Given the description of an element on the screen output the (x, y) to click on. 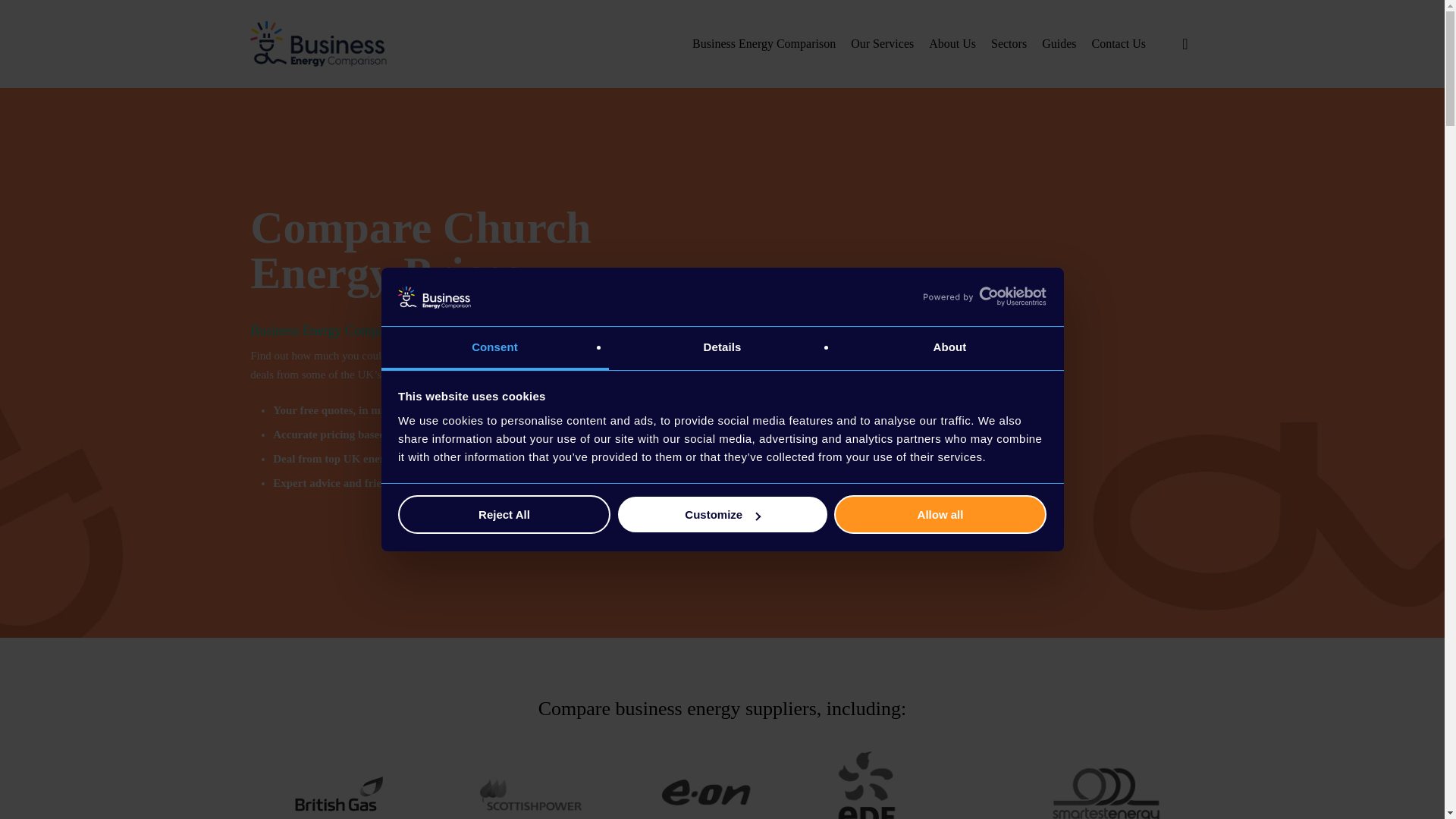
Details (721, 348)
Consent (494, 348)
About (948, 348)
